Given the description of an element on the screen output the (x, y) to click on. 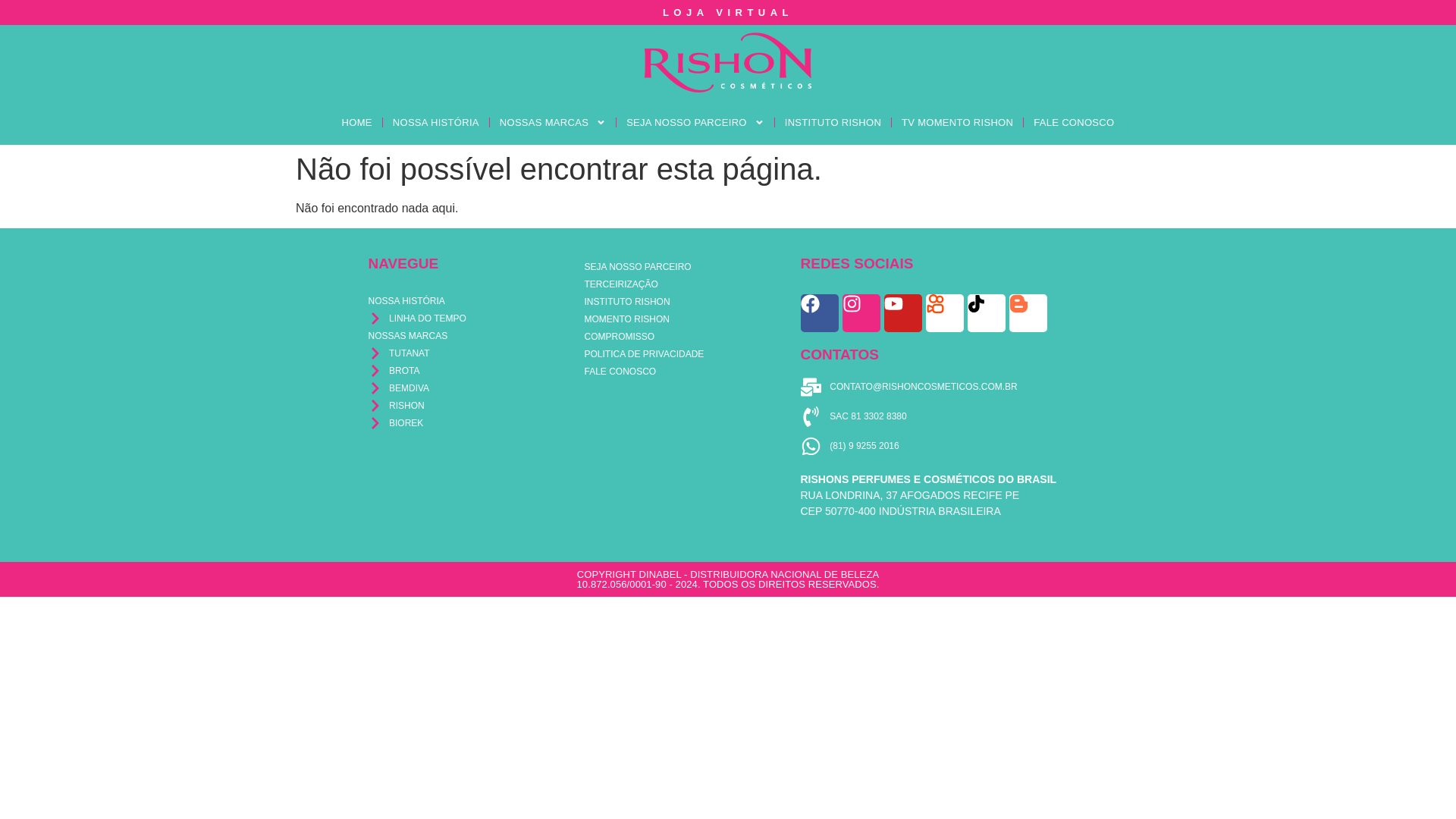
FALE CONOSCO (1073, 122)
INSTITUTO RISHON (832, 122)
LOJA VIRTUAL (727, 12)
HOME (356, 122)
NOSSAS MARCAS (552, 122)
TV MOMENTO RISHON (957, 122)
SEJA NOSSO PARCEIRO (694, 122)
